Given the description of an element on the screen output the (x, y) to click on. 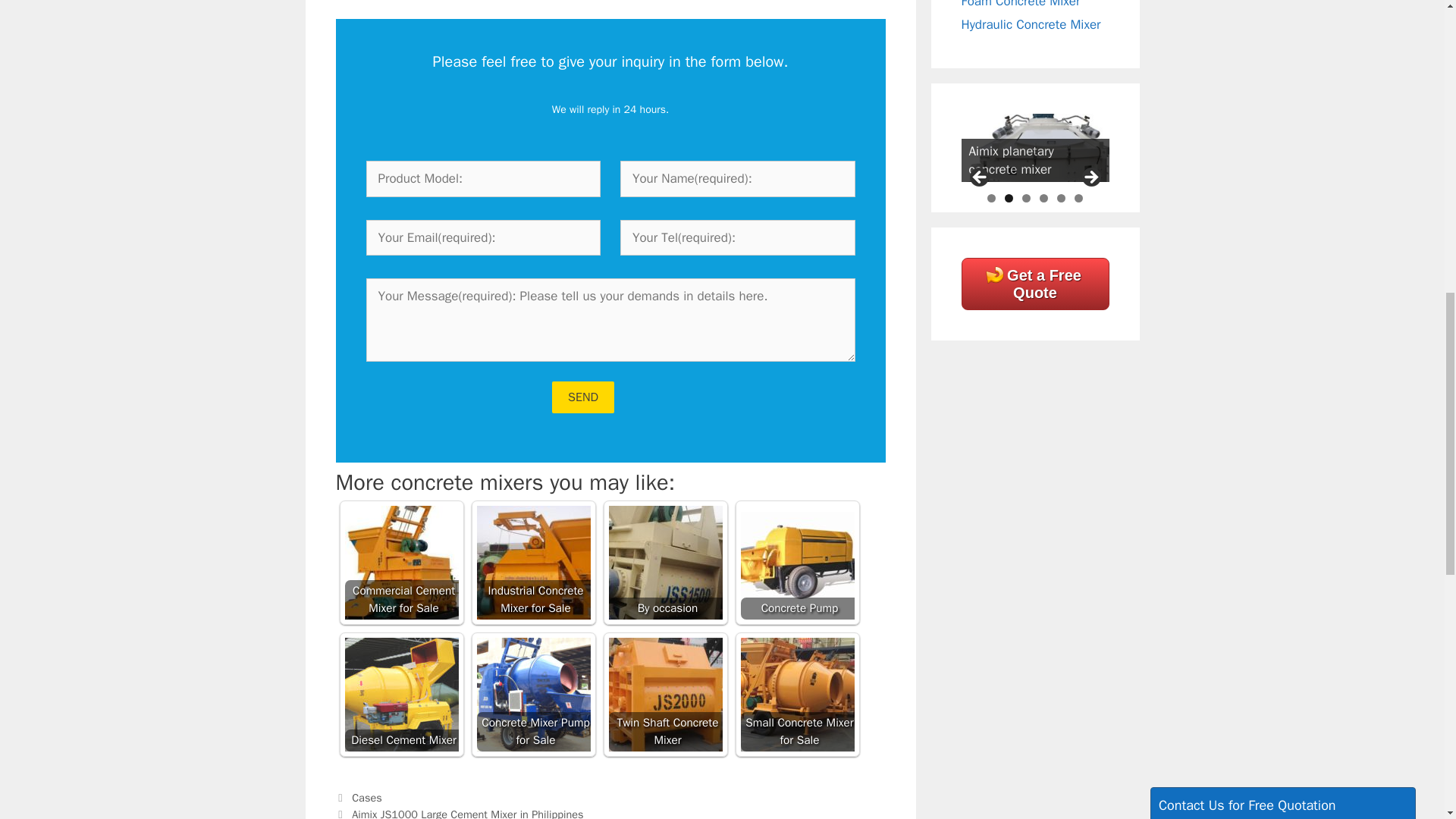
Send (582, 397)
Diesel Cement Mixer (400, 694)
Send (1189, 283)
Industrial Concrete Mixer for Sale (532, 562)
Commercial Cement Mixer for Sale (400, 562)
By occasion (665, 562)
Small Concrete Mixer for Sale (796, 694)
Concrete Mixer Pump for Sale (532, 694)
Concrete Pump (796, 562)
Twin Shaft Concrete Mixer (665, 694)
